Given the description of an element on the screen output the (x, y) to click on. 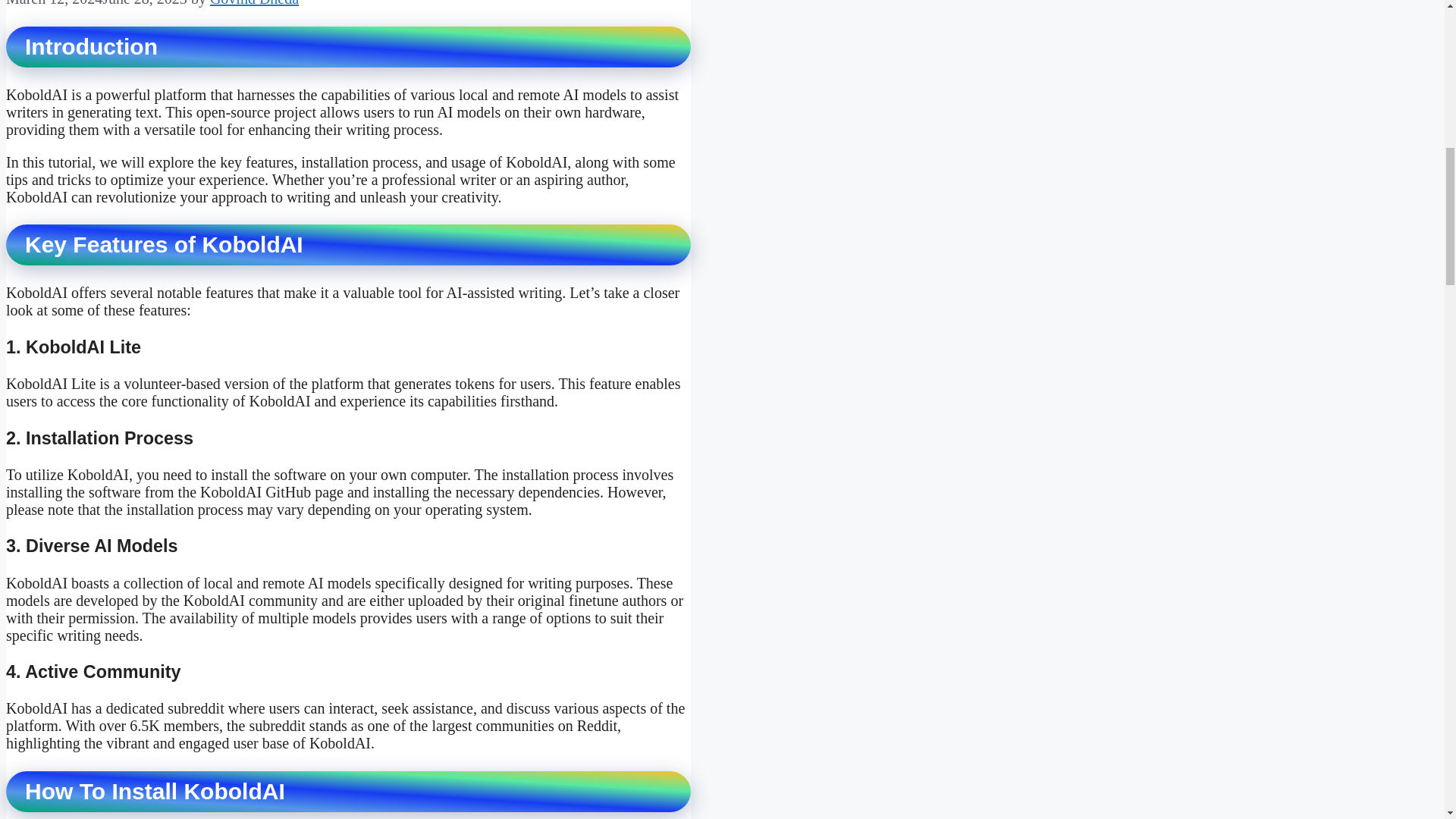
View all posts by Govind Dheda (253, 3)
Scroll back to top (1406, 720)
Govind Dheda (253, 3)
